Given the description of an element on the screen output the (x, y) to click on. 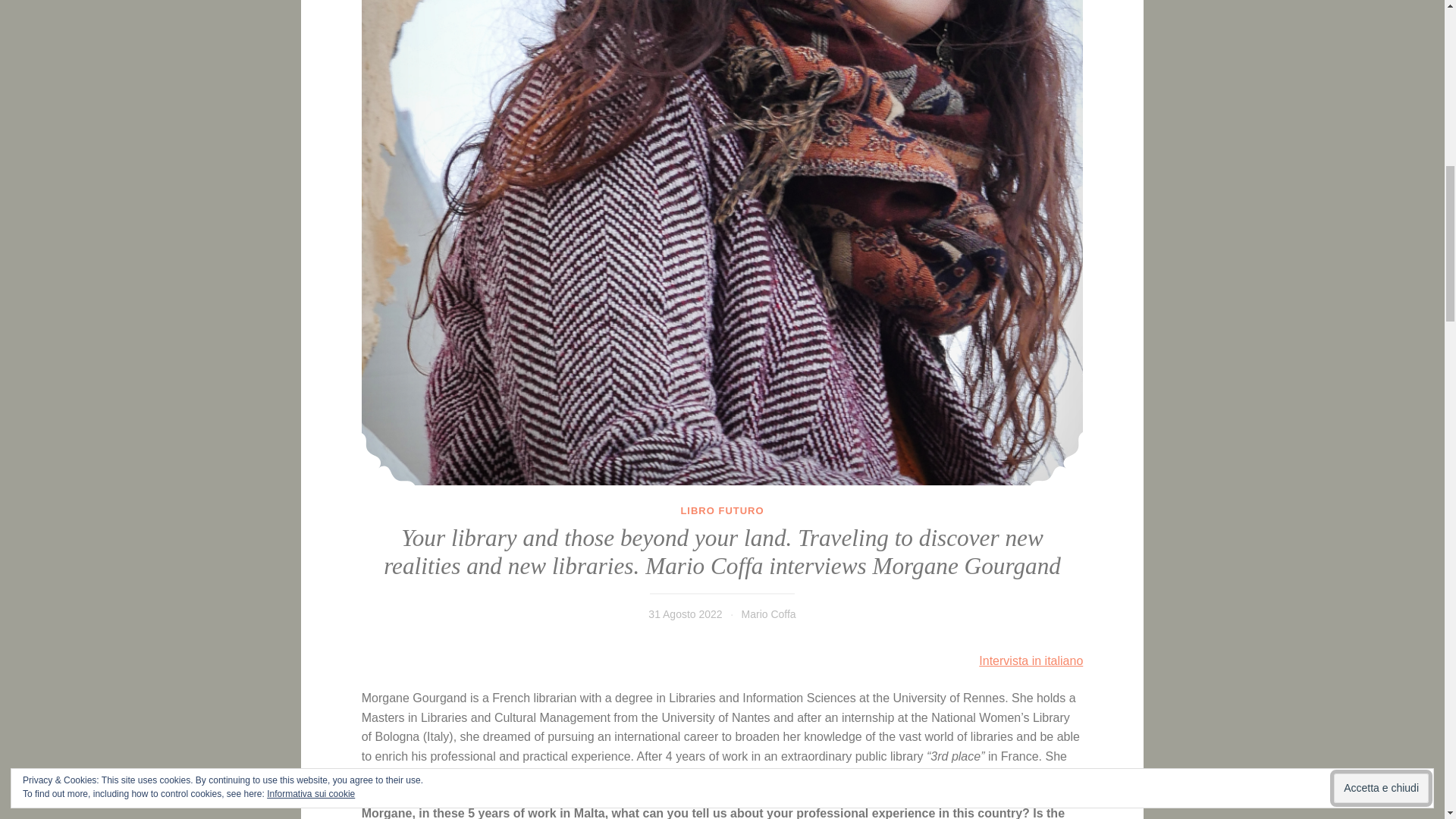
31 Agosto 2022 (684, 613)
LIBRO FUTURO (720, 510)
Intervista in italiano (1030, 660)
Mario Coffa (768, 613)
